Given the description of an element on the screen output the (x, y) to click on. 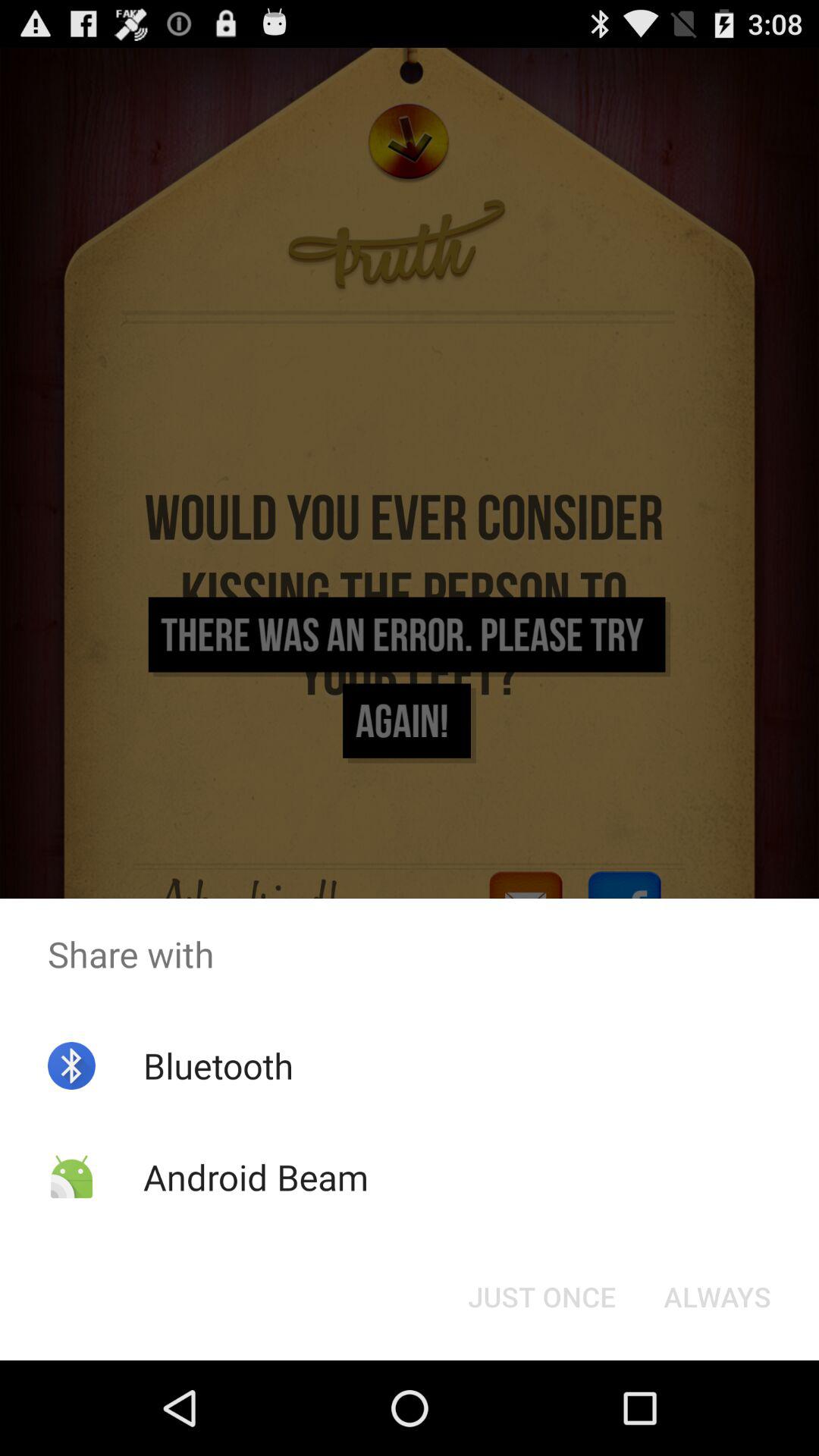
select the button next to just once button (717, 1296)
